Given the description of an element on the screen output the (x, y) to click on. 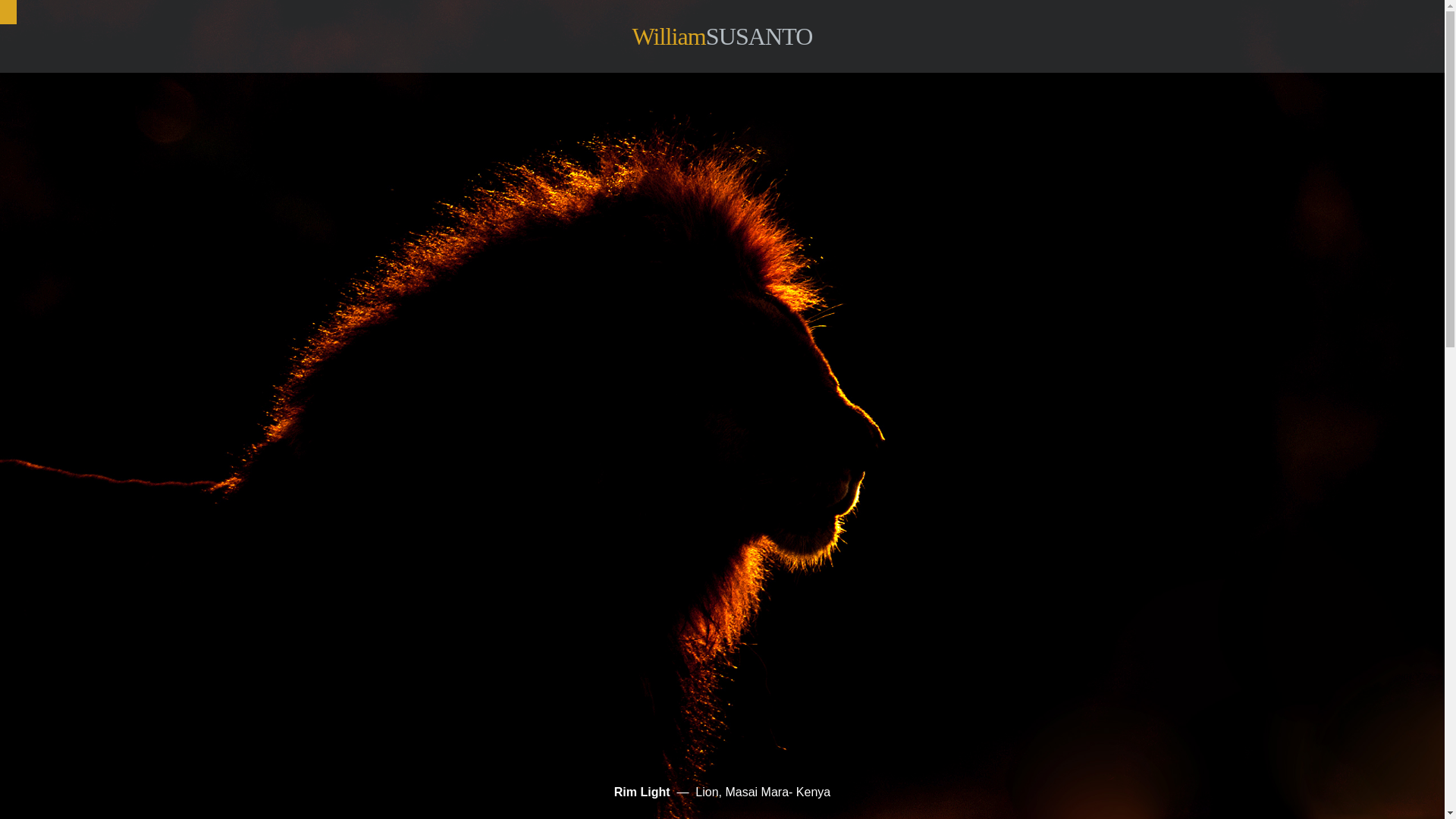
WilliamSUSANTO (721, 36)
